Given the description of an element on the screen output the (x, y) to click on. 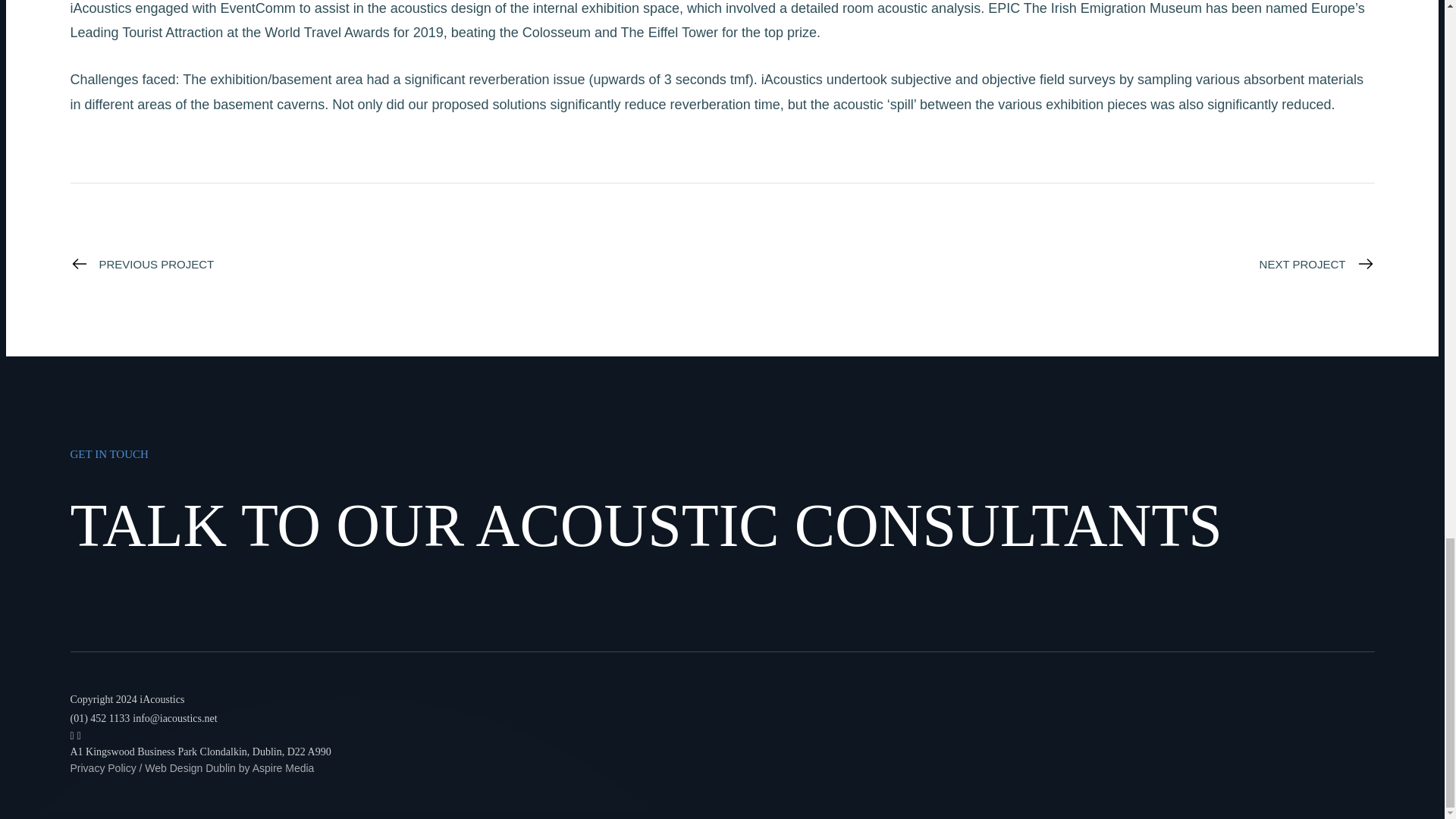
PREVIOUS PROJECT (141, 263)
Web Design Dublin by Aspire Media (229, 767)
NEXT PROJECT (1316, 263)
